Given the description of an element on the screen output the (x, y) to click on. 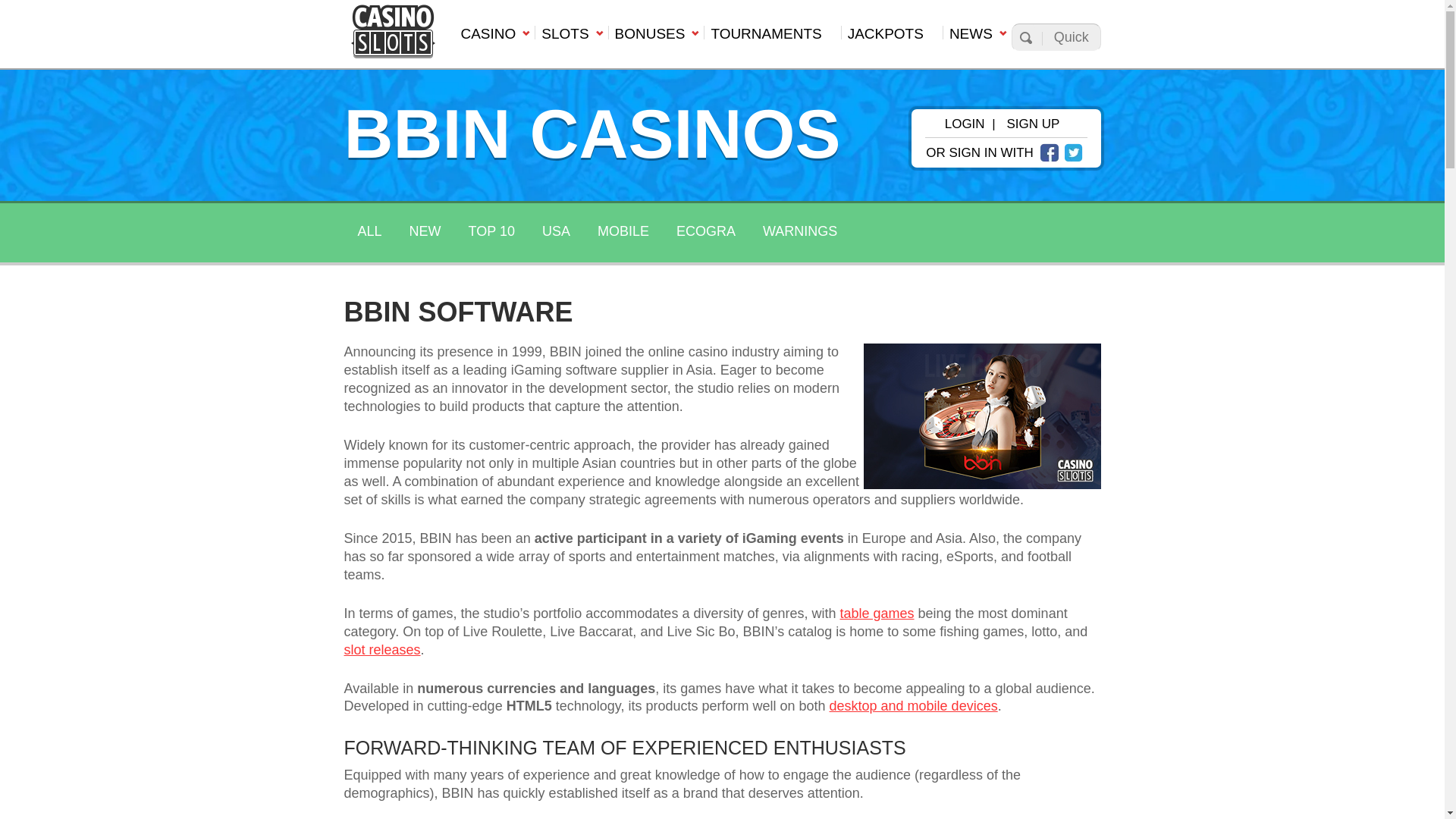
JACKPOTS (891, 37)
NEWS (976, 37)
TOURNAMENTS (771, 37)
CASINO (493, 37)
BONUSES (656, 37)
TOP 10 (491, 231)
NEW (425, 231)
SIGN UP (1032, 124)
ALL (369, 231)
MOBILE (623, 231)
